Given the description of an element on the screen output the (x, y) to click on. 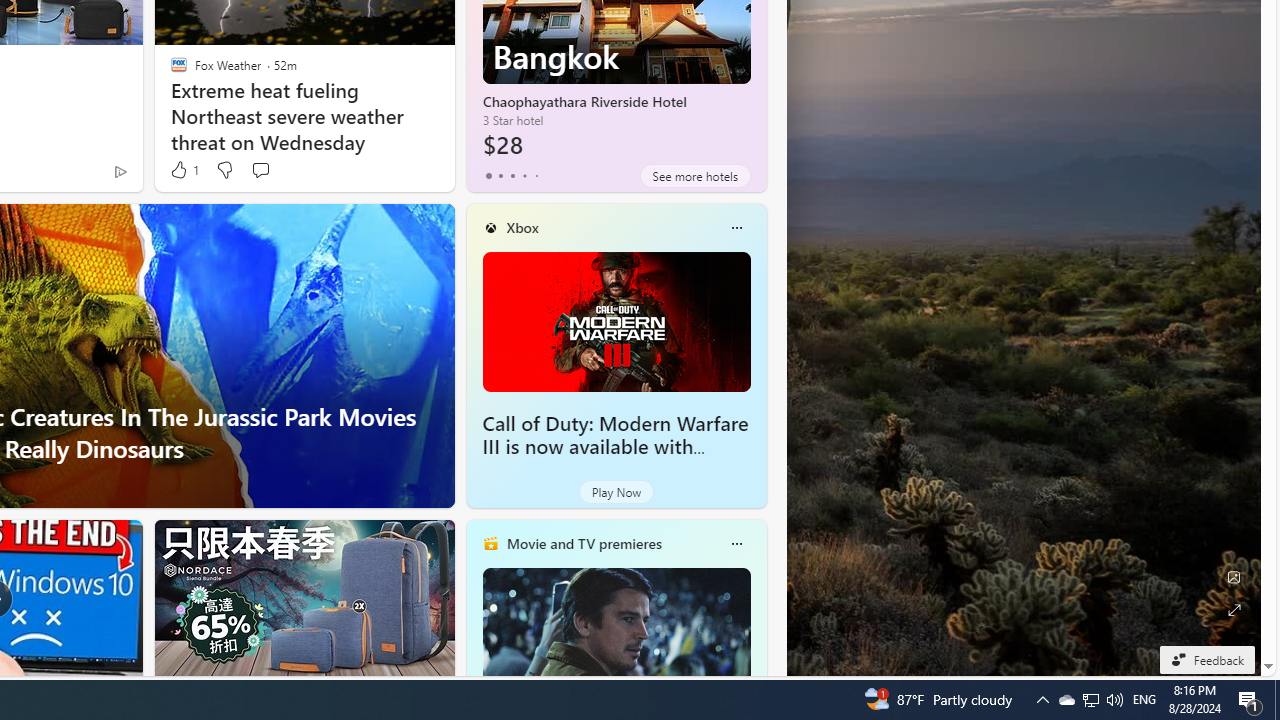
Edit Background (1233, 577)
1 Like (183, 170)
Class: icon-img (736, 543)
Expand background (1233, 610)
tab-4 (535, 175)
Movie and TV premieres (583, 543)
tab-2 (511, 175)
See more hotels (694, 175)
More options (736, 543)
Play Now (616, 491)
